Given the description of an element on the screen output the (x, y) to click on. 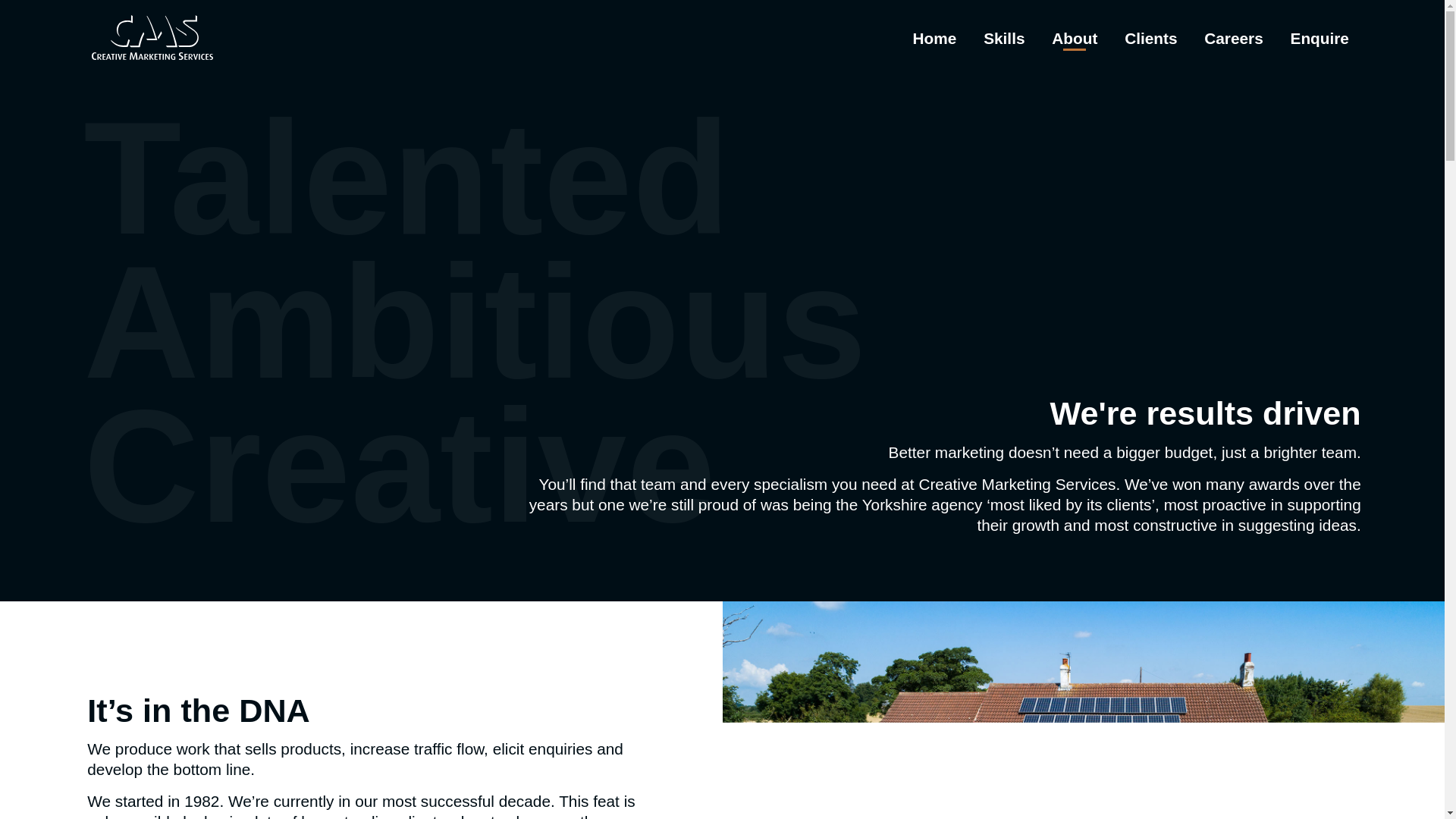
Clients (1150, 37)
Skills (1003, 37)
Home (934, 37)
Careers (1232, 37)
About (1074, 37)
Enquire (1319, 37)
